Given the description of an element on the screen output the (x, y) to click on. 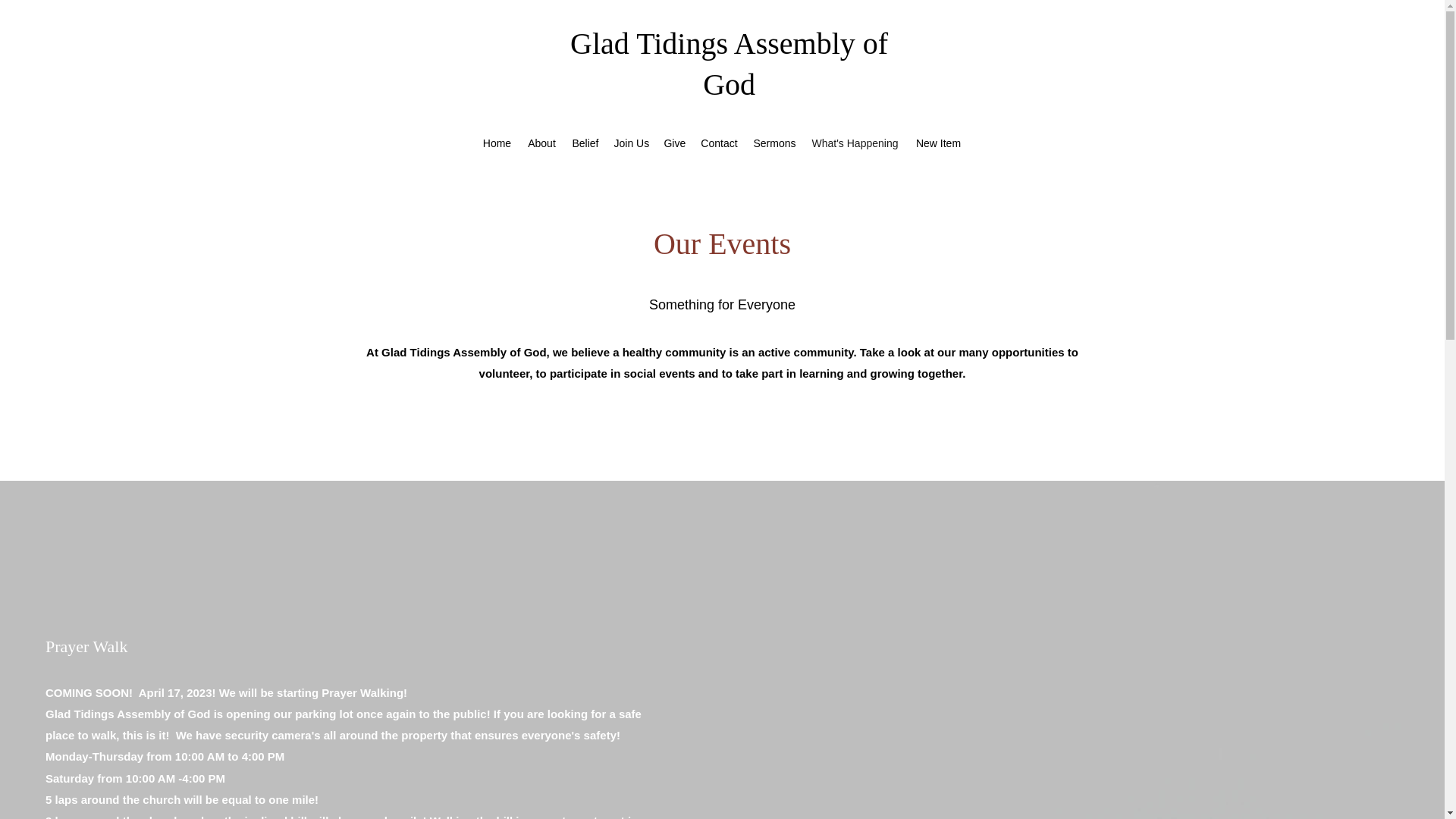
What's Happening (854, 142)
Belief (584, 142)
About (541, 142)
Sermons (773, 142)
Contact (719, 142)
Join Us (630, 142)
Give (674, 142)
Home (496, 142)
Glad Tidings Assembly of God (729, 63)
